Given the description of an element on the screen output the (x, y) to click on. 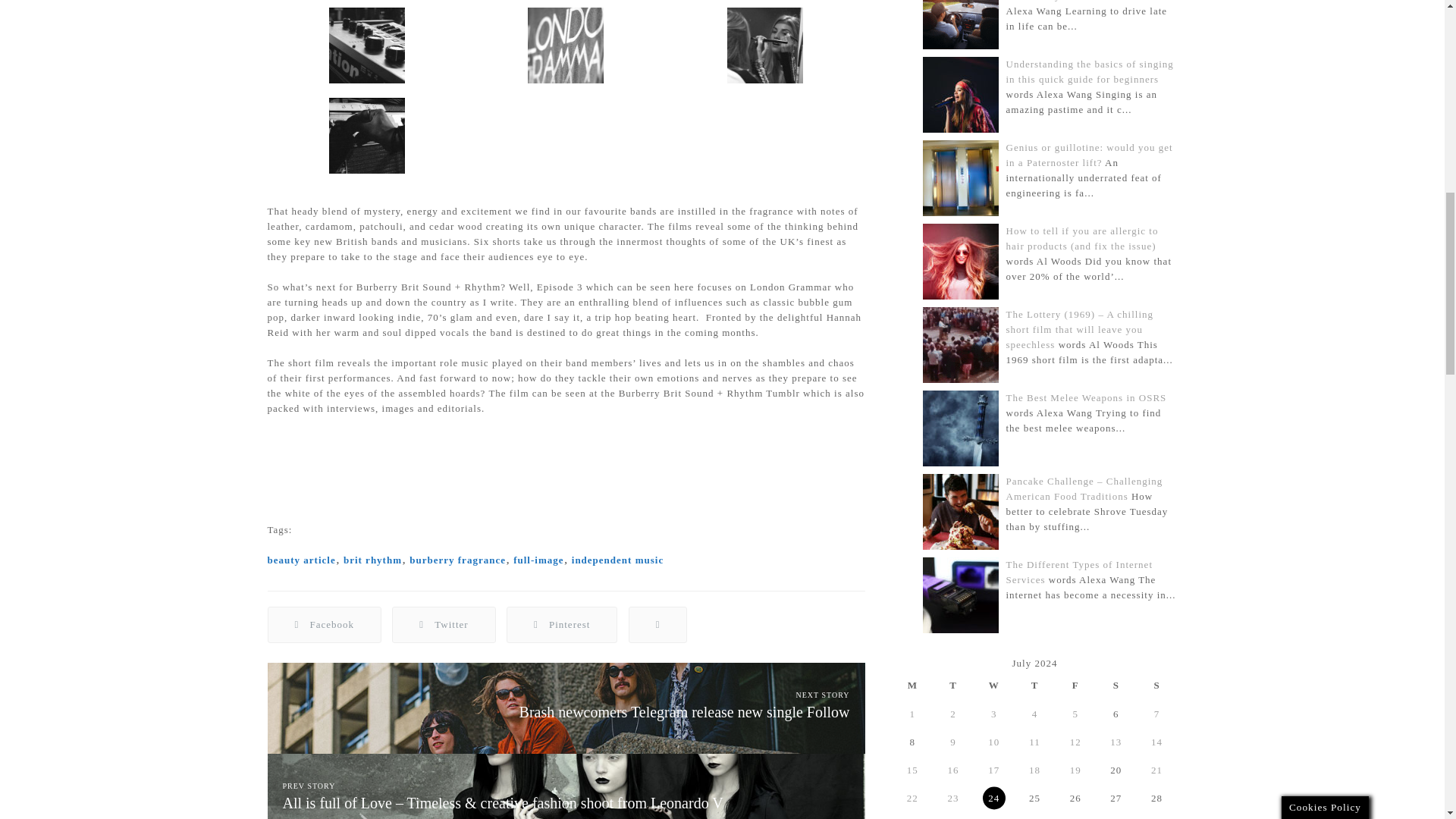
Saturday (1116, 684)
Wednesday (994, 684)
Friday (1075, 684)
Sunday (1157, 684)
Monday (912, 684)
Thursday (1034, 684)
Tuesday (953, 684)
